Given the description of an element on the screen output the (x, y) to click on. 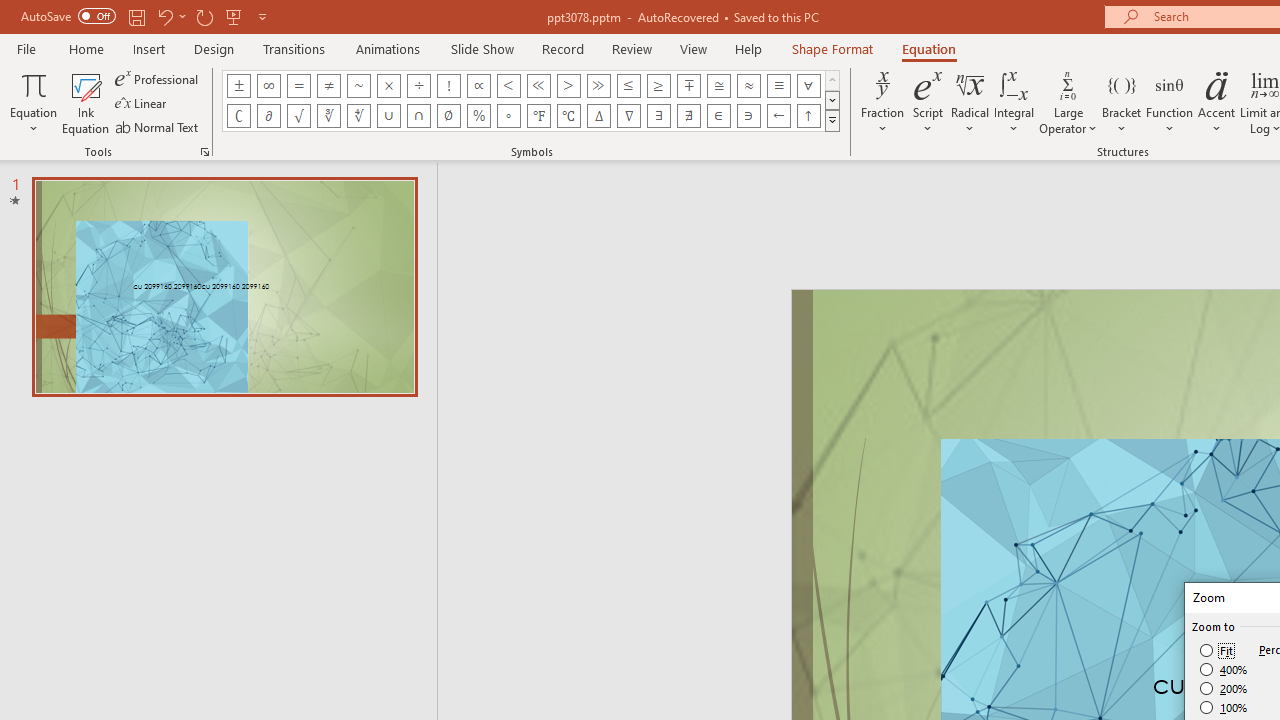
Linear (142, 103)
Equation Symbol Multiplication Sign (388, 85)
200% (1224, 688)
Equation Symbol Plus Minus (238, 85)
Equation Symbol Empty Set (448, 115)
Equation Symbol Less Than (508, 85)
Equation Symbol Approximately Equal To (718, 85)
